Given the description of an element on the screen output the (x, y) to click on. 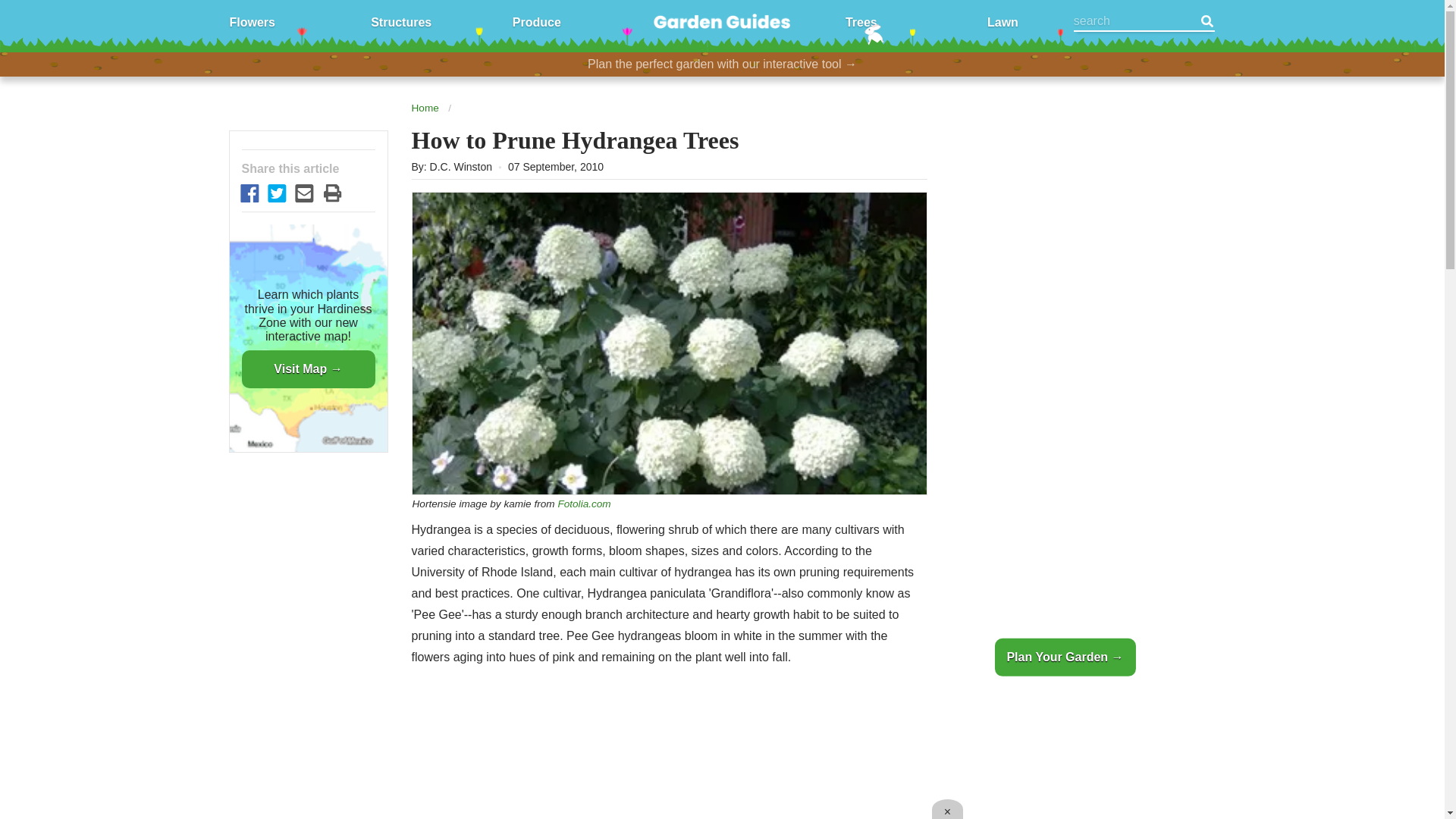
Trees (861, 21)
Home (424, 107)
Structures (400, 21)
Produce (536, 21)
Flowers (251, 21)
Lawn (1002, 21)
Fotolia.com (583, 503)
